Given the description of an element on the screen output the (x, y) to click on. 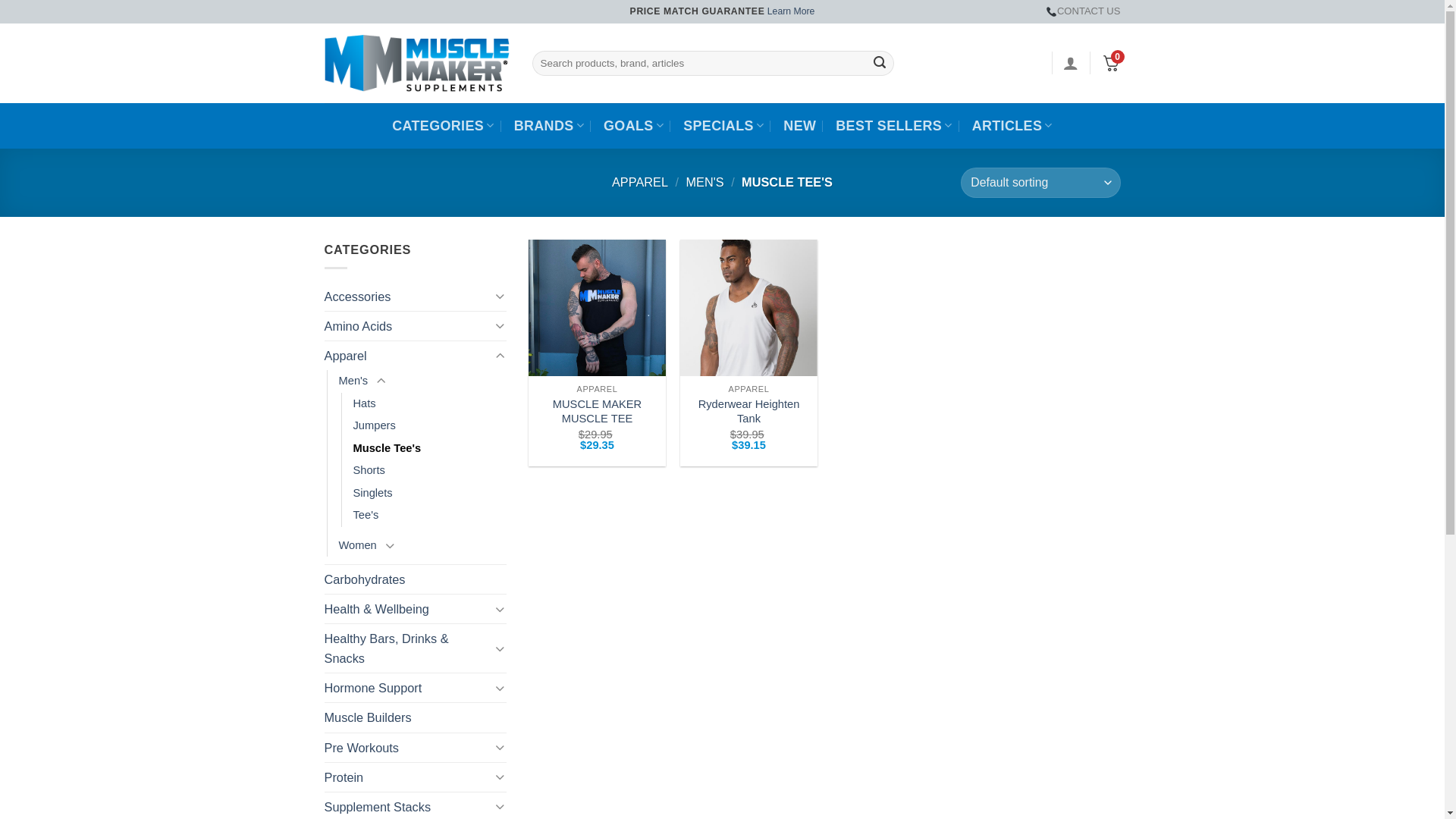
BRANDS Element type: text (548, 125)
Men's Element type: text (352, 381)
Carbohydrates Element type: text (415, 578)
MUSCLE MAKER MUSCLE TEE Element type: text (596, 411)
Accessories Element type: text (407, 296)
SPECIALS Element type: text (723, 125)
Women Element type: text (357, 545)
Hormone Support Element type: text (407, 687)
Ryderwear Heighten Tank Element type: text (748, 411)
Muscle Builders Element type: text (415, 716)
CONTACT US Element type: text (1082, 11)
Learn More Element type: text (791, 11)
Pre Workouts Element type: text (407, 747)
Hats Element type: text (364, 403)
MEN'S Element type: text (704, 181)
Apparel Element type: text (407, 355)
CATEGORIES Element type: text (442, 125)
Shorts Element type: text (369, 470)
ARTICLES Element type: text (1012, 125)
Health & Wellbeing Element type: text (407, 608)
Amino Acids Element type: text (407, 325)
Healthy Bars, Drinks & Snacks Element type: text (407, 648)
Search Element type: text (879, 62)
Tee's Element type: text (366, 515)
Muscle Tee's Element type: text (387, 448)
APPAREL Element type: text (639, 181)
NEW Element type: text (799, 125)
Singlets Element type: text (372, 493)
Jumpers Element type: text (374, 425)
BEST SELLERS Element type: text (893, 125)
Protein Element type: text (407, 776)
GOALS Element type: text (633, 125)
